Given the description of an element on the screen output the (x, y) to click on. 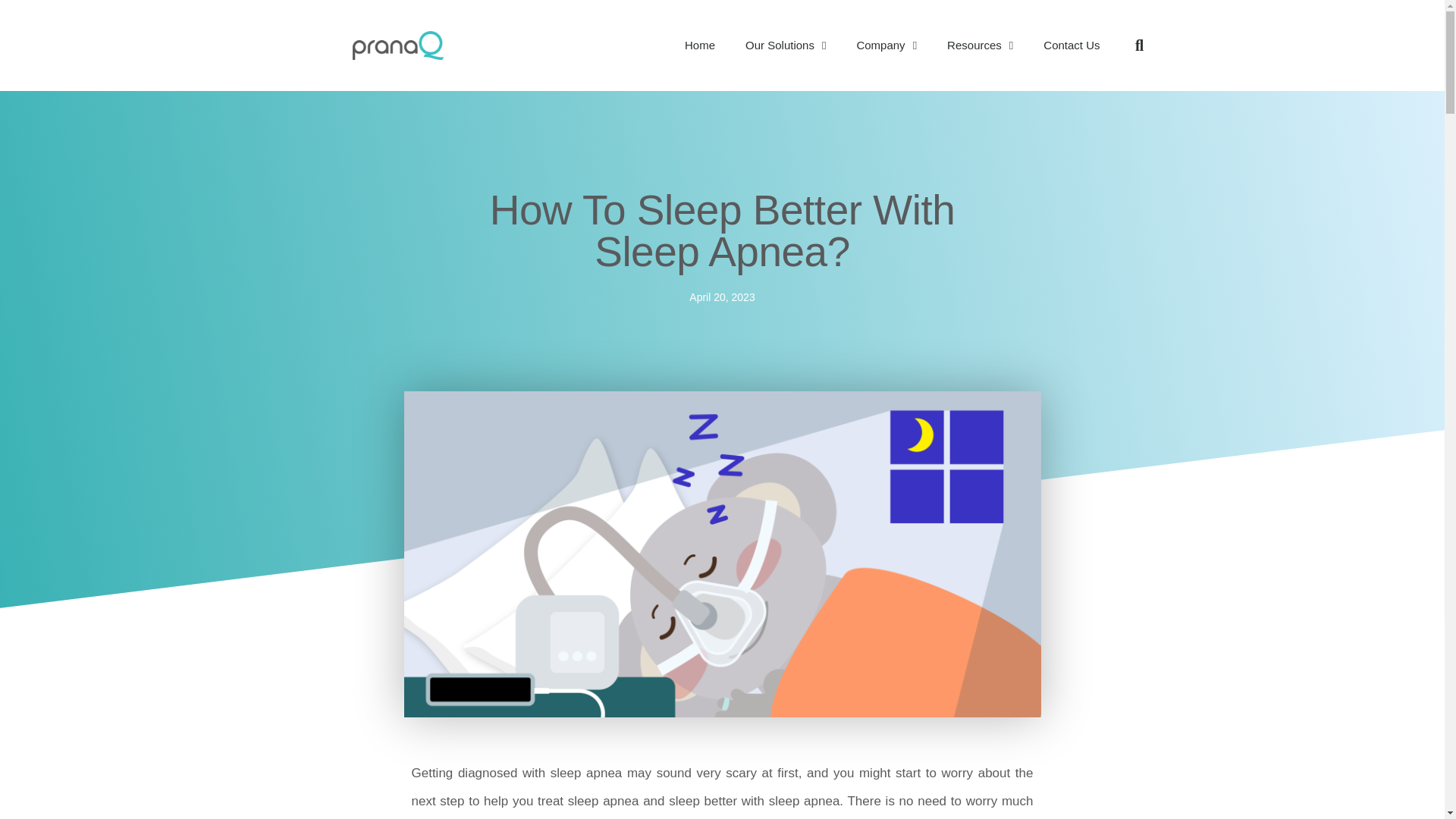
Company (886, 45)
Our Solutions (785, 45)
Contact Us (1071, 45)
Resources (979, 45)
April 20, 2023 (721, 297)
